Given the description of an element on the screen output the (x, y) to click on. 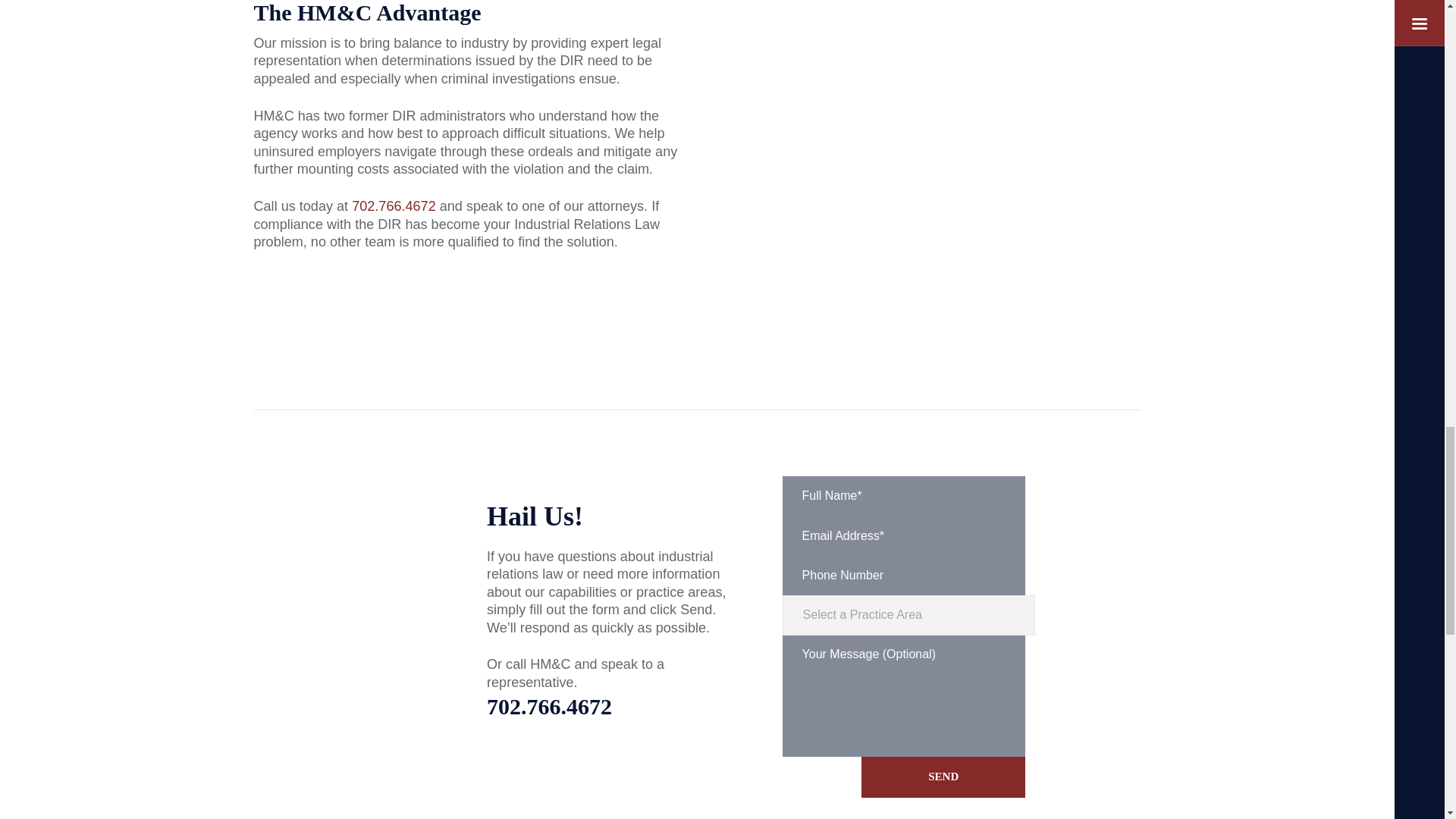
Send (943, 776)
practice-area-pic-workers-comp-02 (925, 146)
702.766.4673 (623, 706)
